Given the description of an element on the screen output the (x, y) to click on. 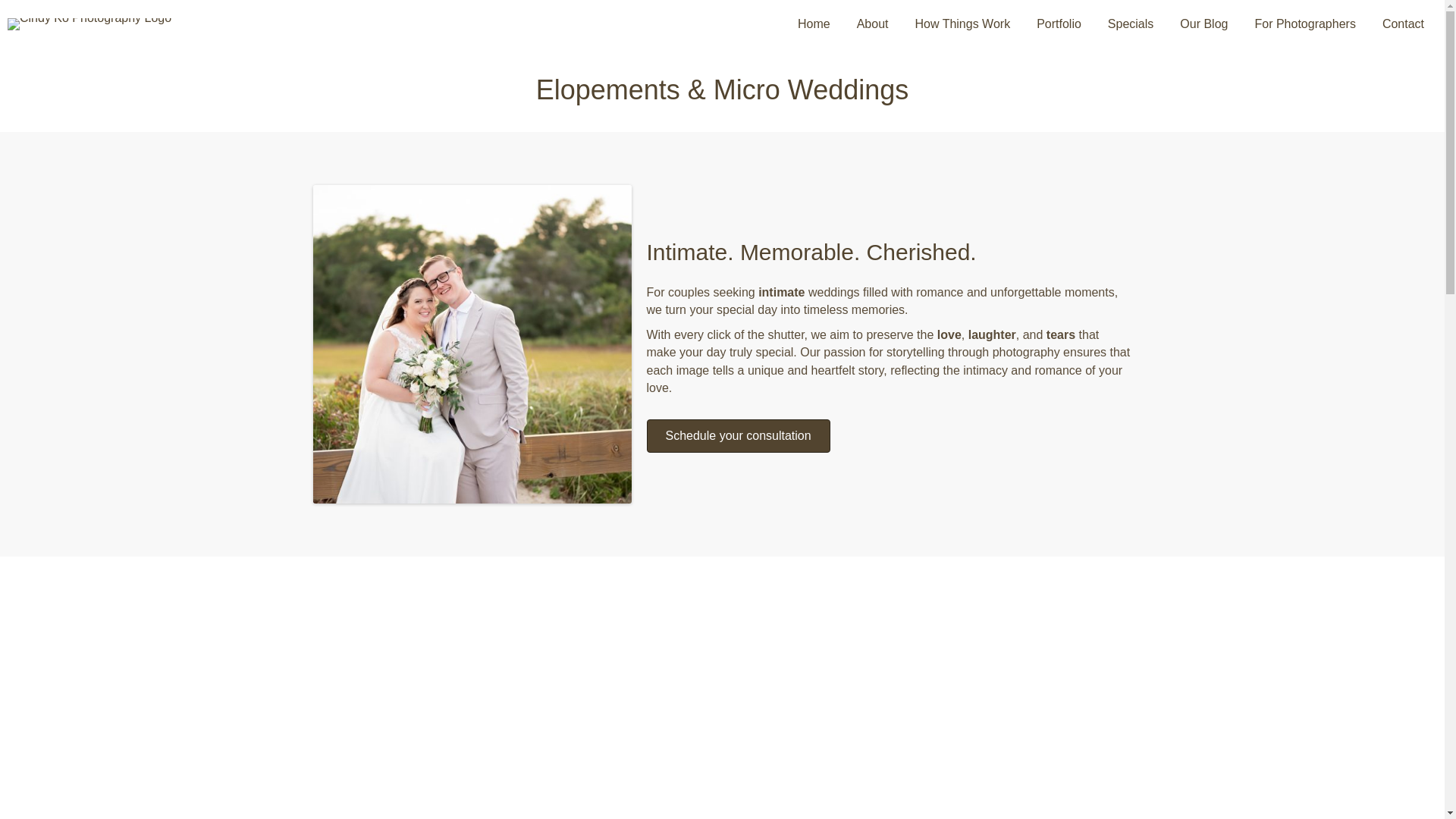
Our Blog (1203, 23)
wedding-mattapoisett-elopement-photography-17 (471, 344)
About (872, 23)
logo-cindy-ko (89, 24)
Schedule your consultation (737, 435)
How Things Work (962, 23)
Portfolio (1058, 23)
Contact (1403, 23)
For Photographers (1304, 23)
Specials (1130, 23)
Home (813, 23)
